Given the description of an element on the screen output the (x, y) to click on. 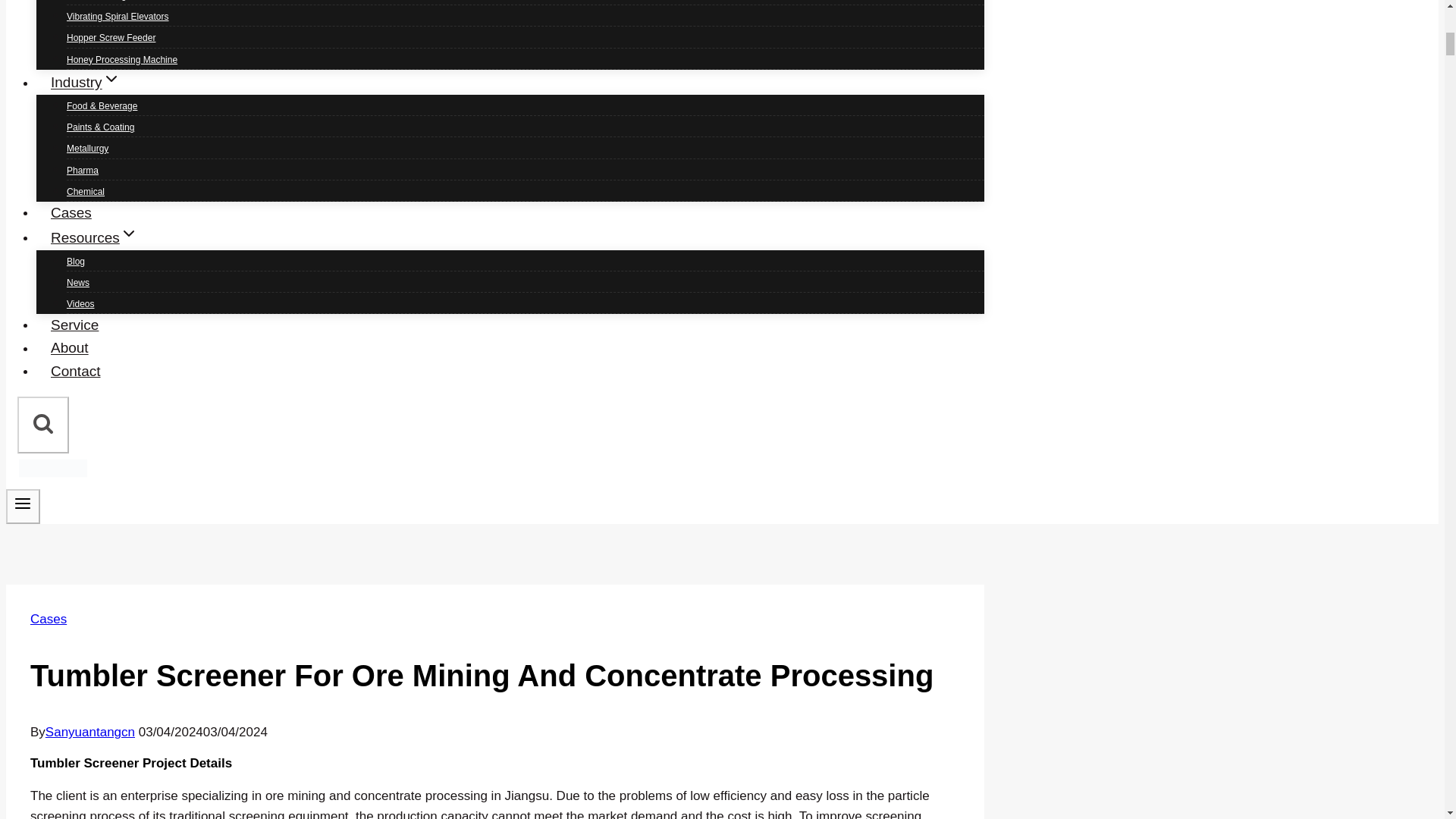
Hopper Screw Feeder (110, 37)
Airflow Sieving Machine (114, 4)
Honey Processing Machine (121, 59)
SEARCH (42, 423)
Expand (128, 233)
IndustryExpand (85, 82)
TOGGLE MENU (22, 503)
Expand (110, 78)
Vibrating Spiral Elevators (117, 16)
